Given the description of an element on the screen output the (x, y) to click on. 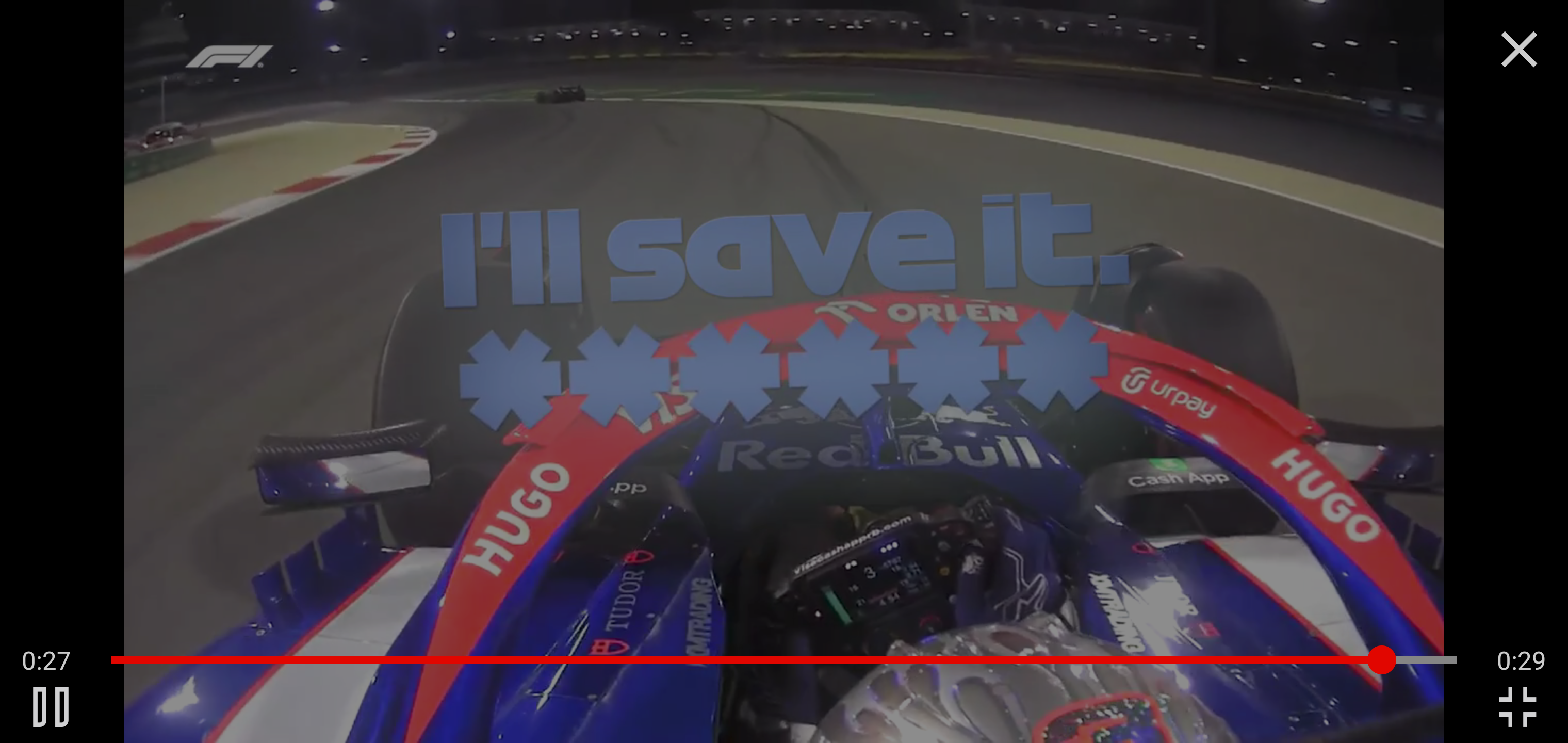
 Close (1518, 49)
B Pause (50, 706)
D Exit Fullscreen (1517, 706)
